Given the description of an element on the screen output the (x, y) to click on. 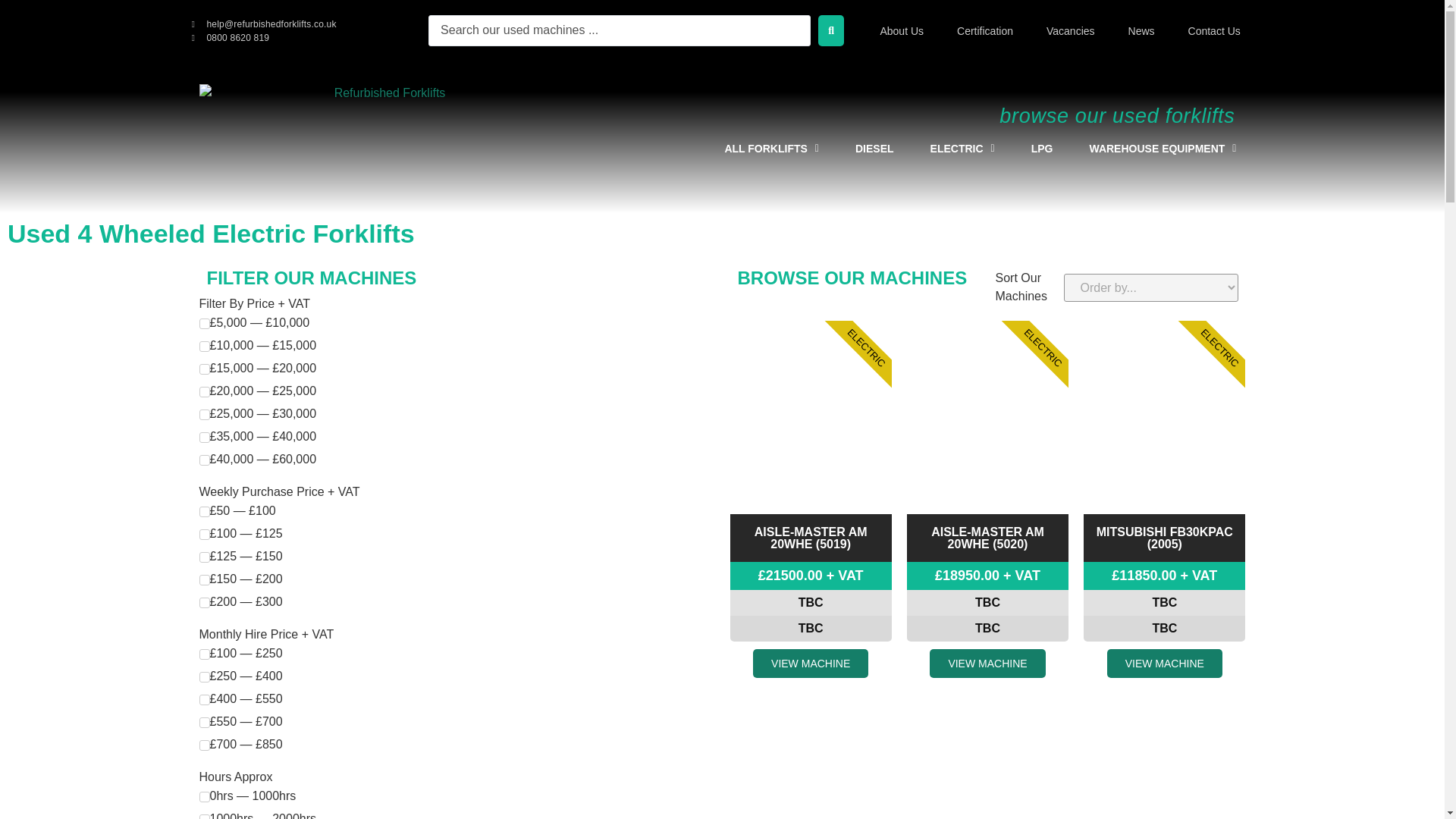
ALL FORKLIFTS (771, 148)
0800 8620 819 (229, 37)
Certification (984, 29)
About Us (901, 29)
DIESEL (874, 148)
News (1141, 29)
Contact Us (1214, 29)
LPG (1042, 148)
Vacancies (1069, 29)
WAREHOUSE EQUIPMENT (1161, 148)
